Given the description of an element on the screen output the (x, y) to click on. 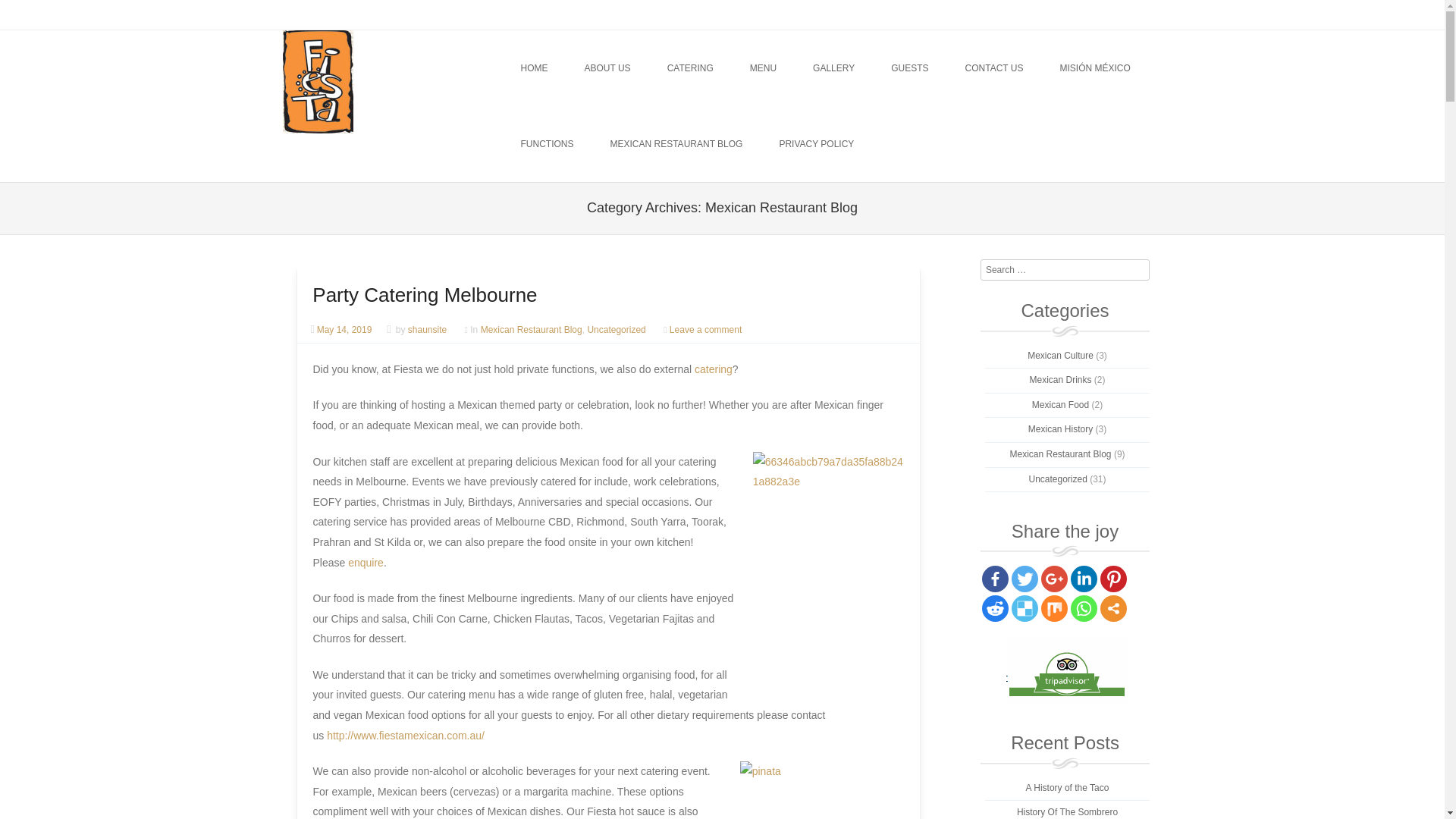
Mexican Restaurant Blog (531, 329)
CONTACT US (994, 68)
Leave a comment (705, 329)
May 14, 2019 (347, 329)
FUNCTIONS (546, 143)
8:30 am (347, 329)
catering (713, 369)
SKIP TO CONTENT (561, 68)
CATERING (690, 68)
ABOUT US (606, 68)
